Given the description of an element on the screen output the (x, y) to click on. 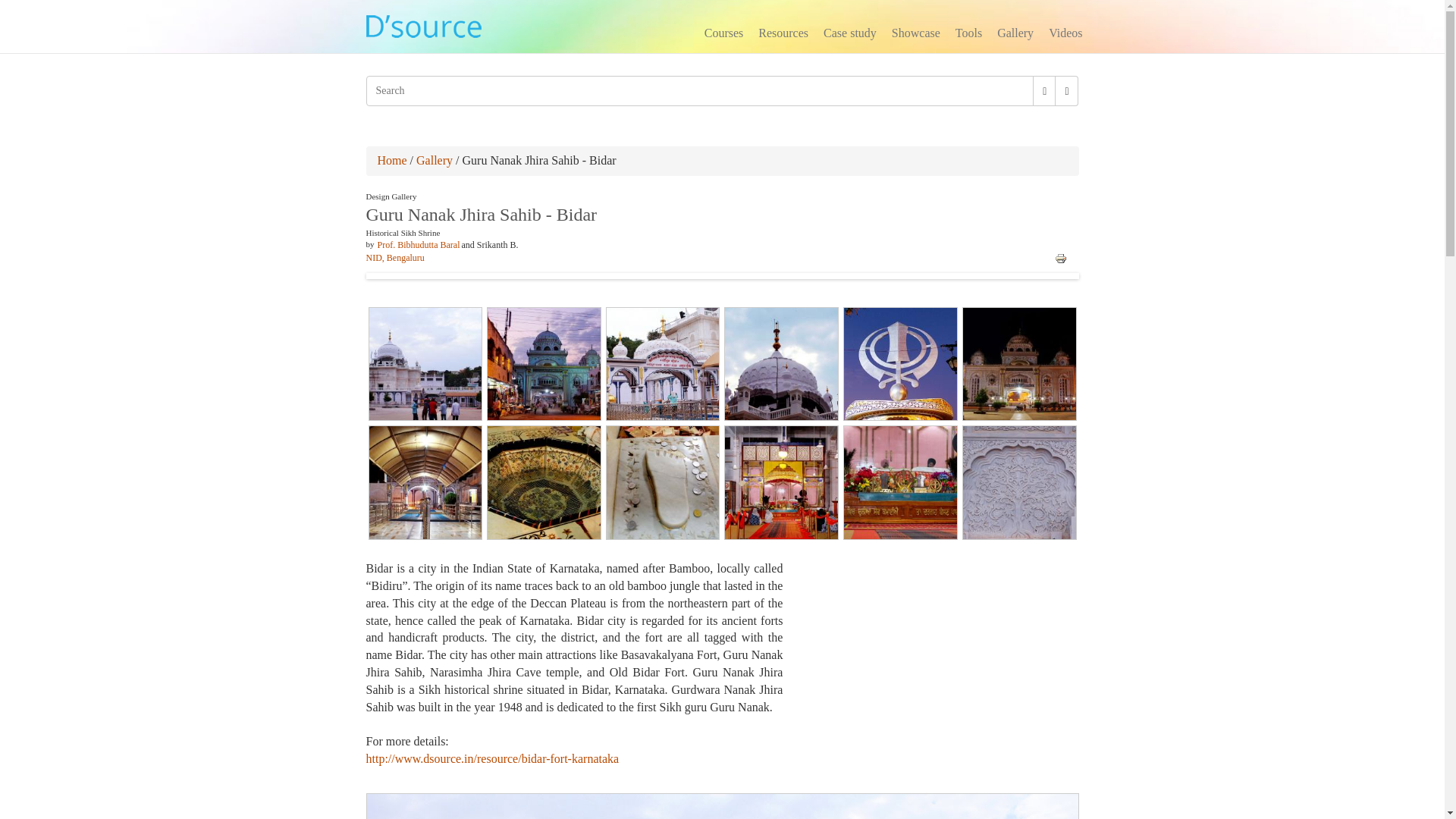
NID, Bengaluru (394, 257)
Printer-friendly version (1059, 258)
Tools (968, 35)
Prof. Bibhudutta Baral (418, 244)
Enter the terms you wish to search for. (699, 91)
Resources (783, 35)
Gallery (434, 160)
Case study (849, 35)
Gallery (1015, 35)
Videos (1065, 35)
